Given the description of an element on the screen output the (x, y) to click on. 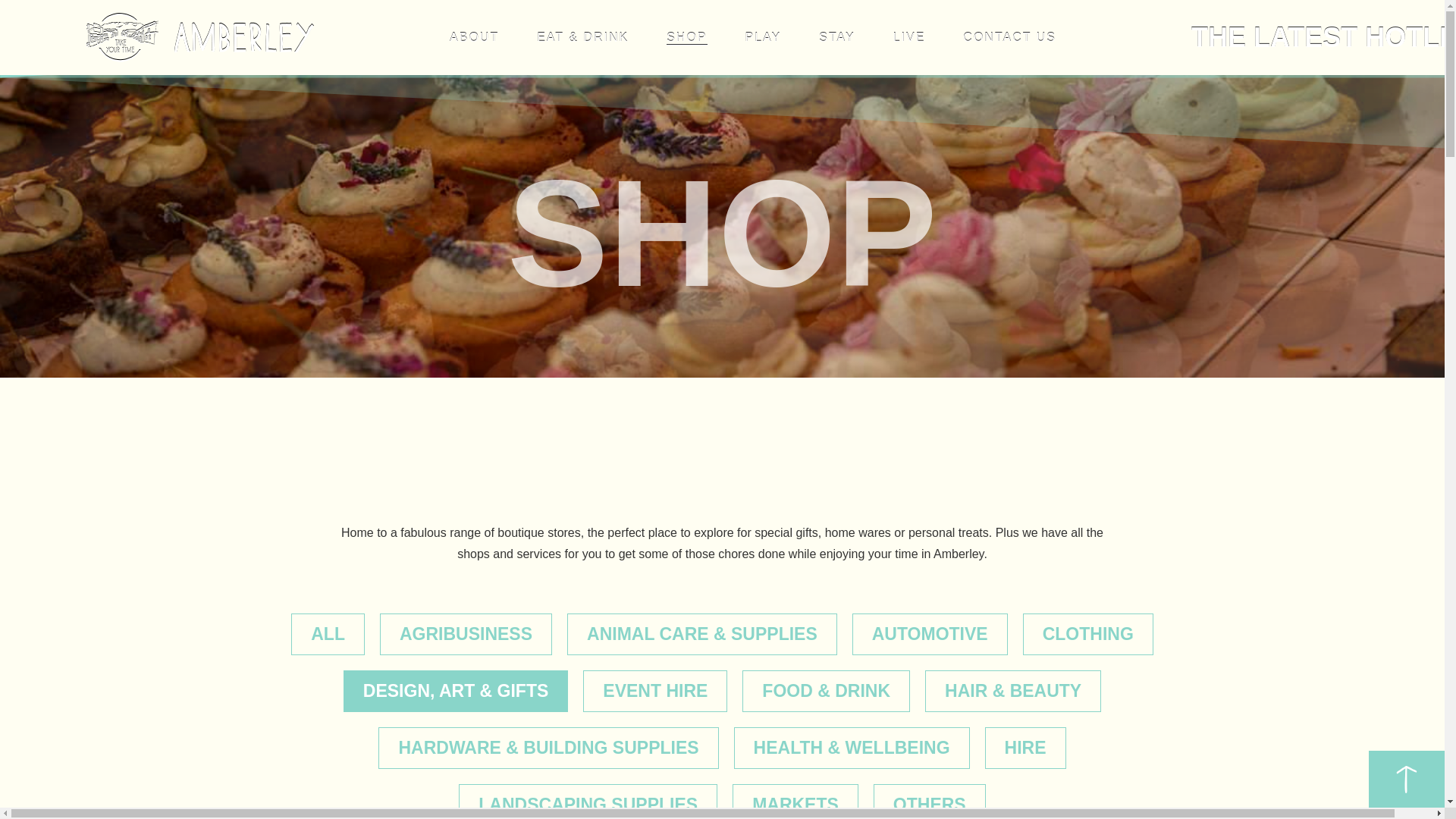
SHOP (686, 37)
ABOUT (474, 37)
PLAY (762, 37)
STAY (836, 37)
LIVE (909, 37)
